Given the description of an element on the screen output the (x, y) to click on. 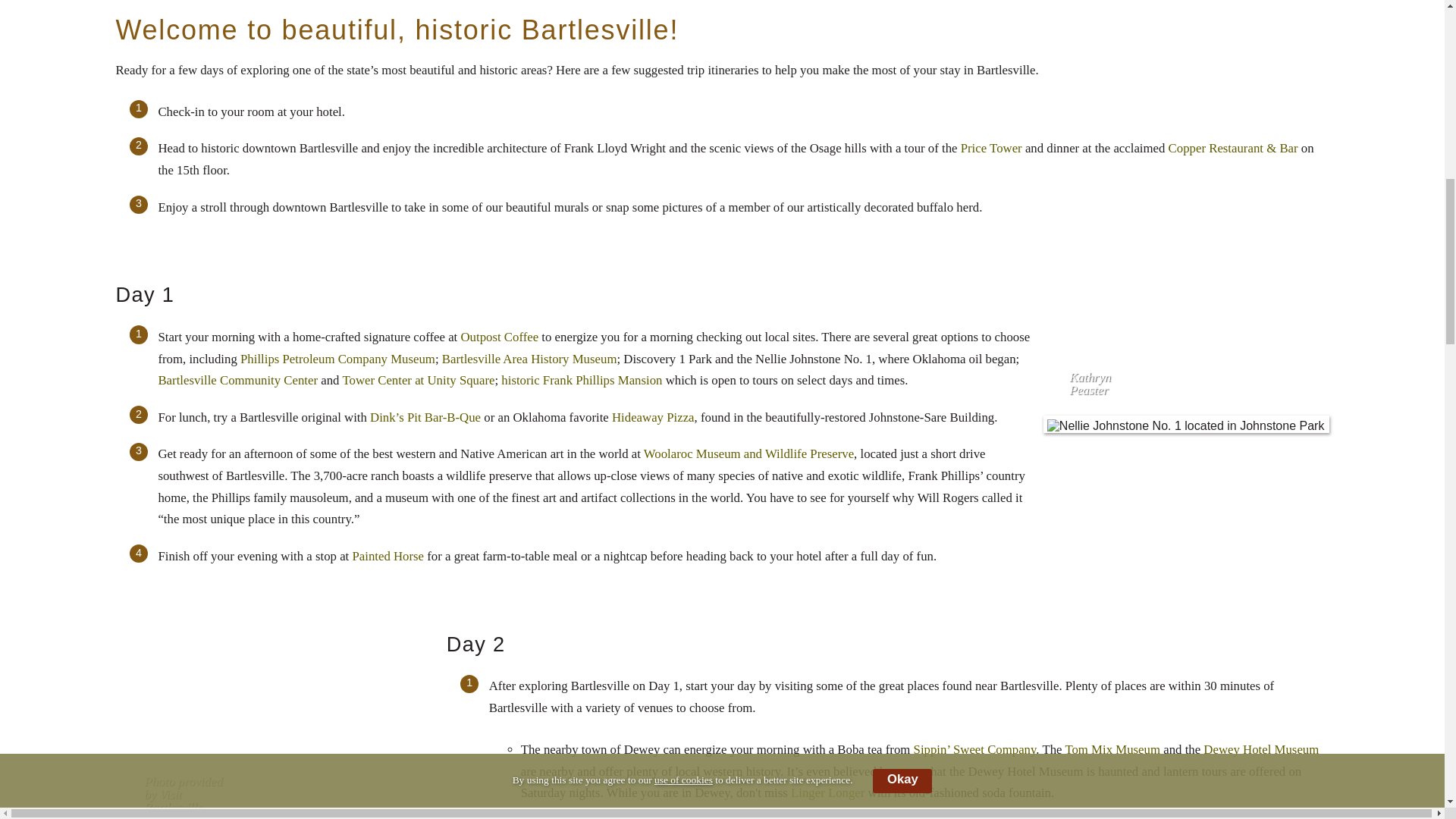
Visit the Price Tower website (991, 147)
See Copper's menu online (1233, 147)
Visit Hideaway's website (652, 417)
Visit Phillips Petroleum Company Museum website (337, 359)
Visit the Bartlesville Area History Museum website (529, 359)
See Dink's menu online (424, 417)
Visit the Frank Phillips Home website (581, 380)
Visit Unity Square's website (418, 380)
Visit the Bartlesville Community Center website (237, 380)
See everything Woolaroc has to offer (748, 453)
